Given the description of an element on the screen output the (x, y) to click on. 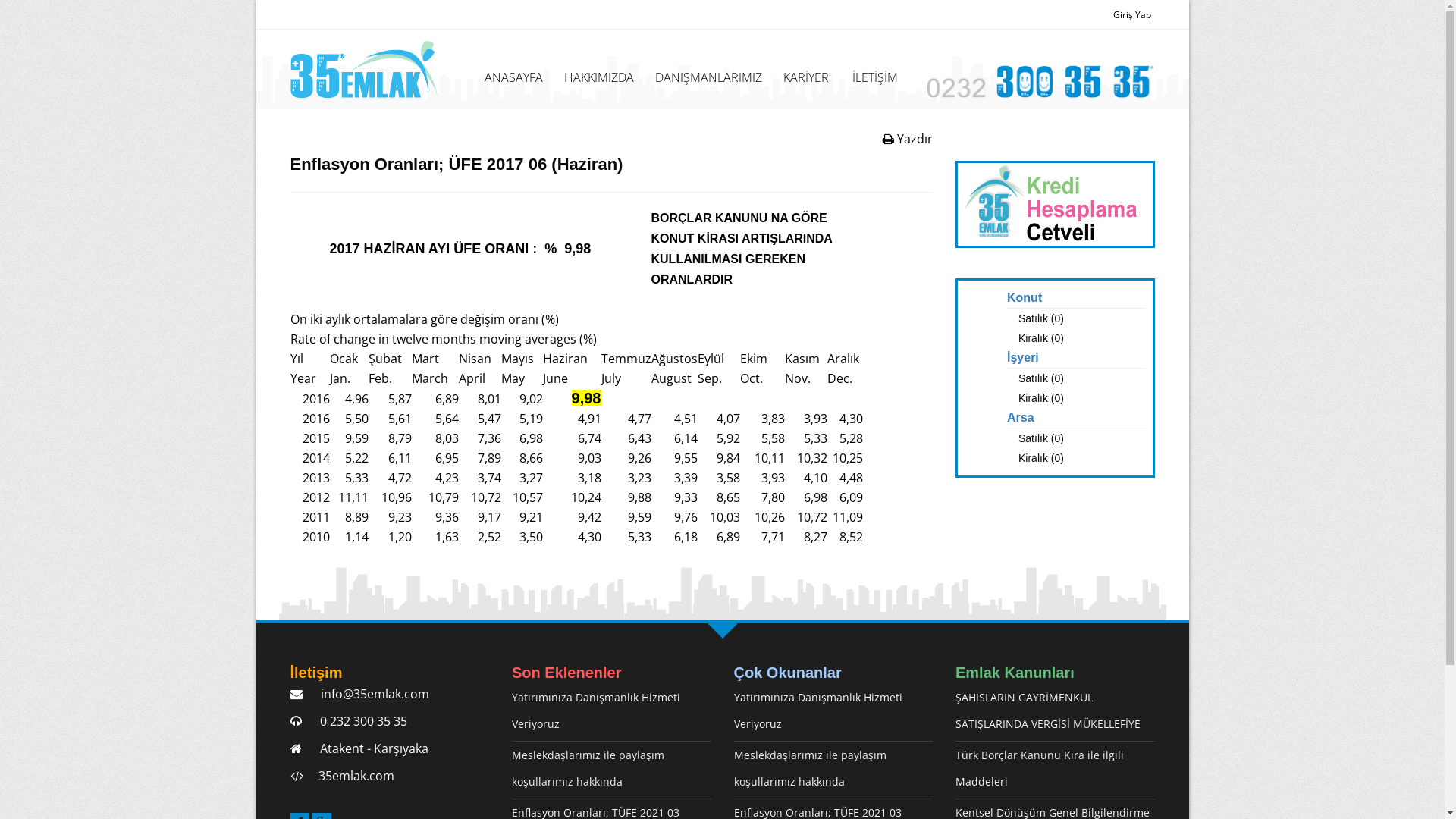
0 232 300 35 35 Element type: text (358, 720)
HAKKIMIZDA Element type: text (598, 76)
ANASAYFA Element type: text (513, 76)
35emlak.com Element type: text (352, 775)
info@35emlak.com Element type: text (368, 693)
